Given the description of an element on the screen output the (x, y) to click on. 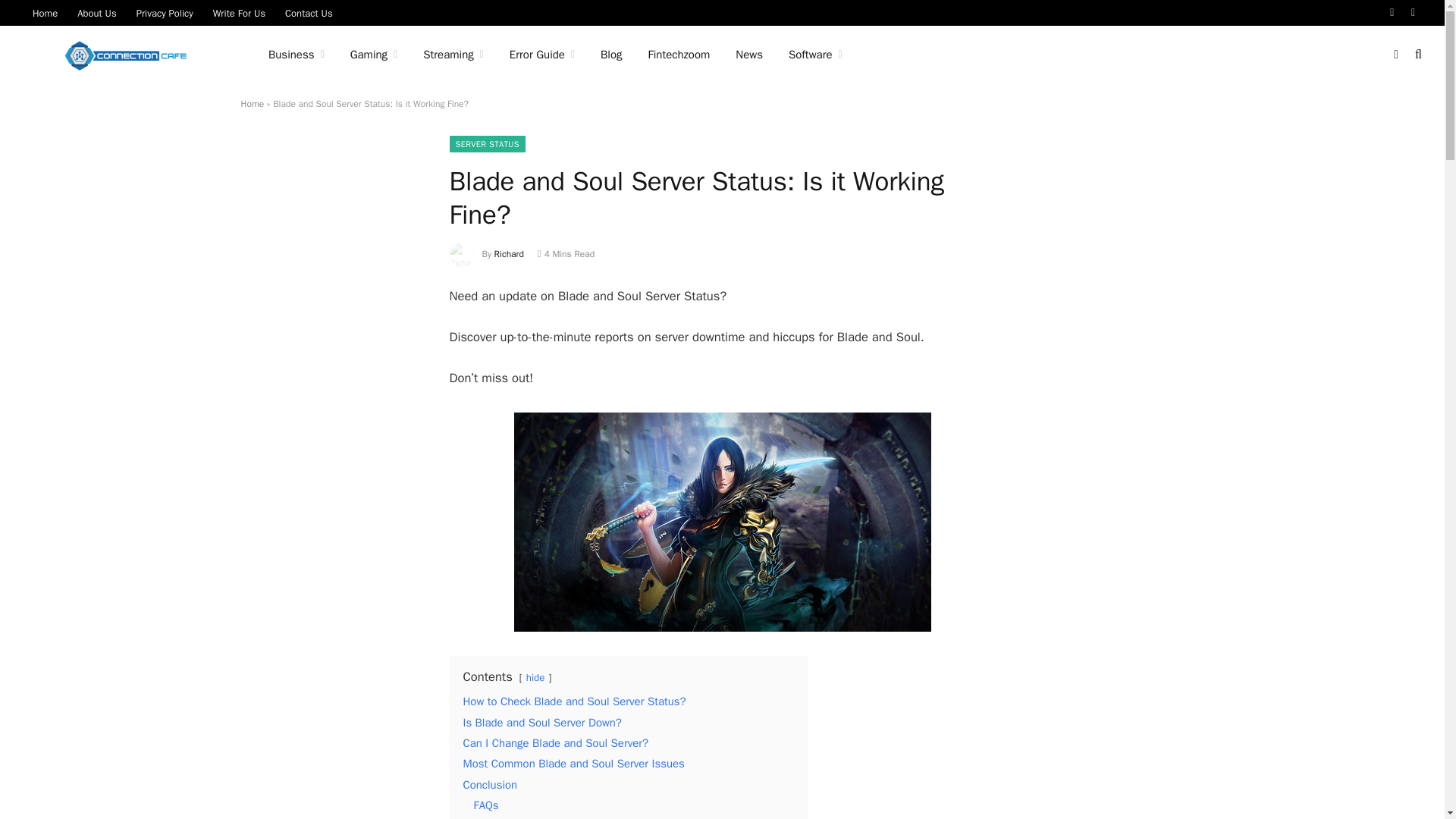
About Us (95, 12)
Privacy Policy (164, 12)
Streaming (453, 54)
Contact Us (308, 12)
Error Guide (542, 54)
News (749, 54)
Fintechzoom (678, 54)
Write For Us (239, 12)
Posts by Richard (509, 254)
Home (252, 103)
